Given the description of an element on the screen output the (x, y) to click on. 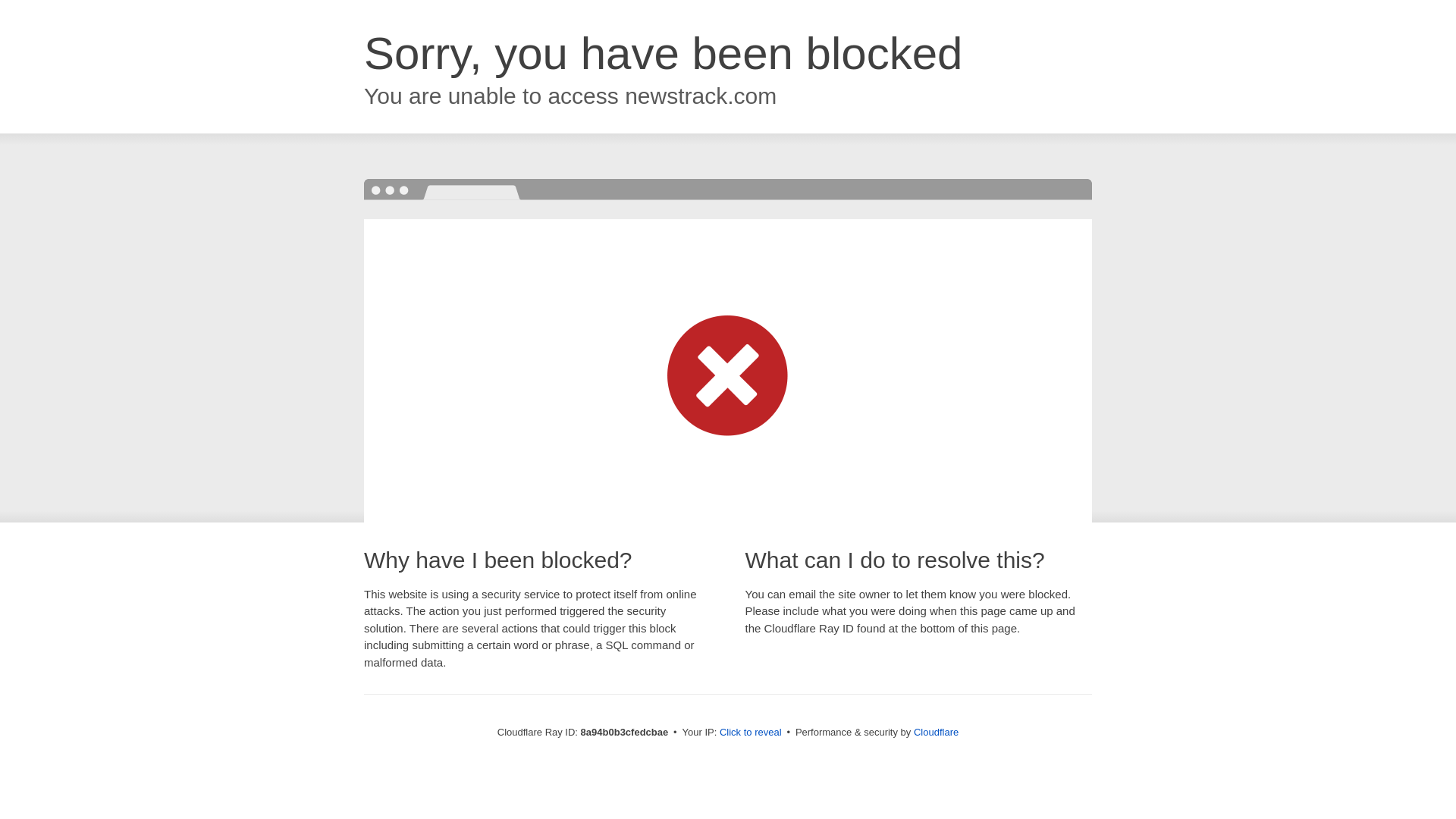
Click to reveal (750, 732)
Cloudflare (936, 731)
